Given the description of an element on the screen output the (x, y) to click on. 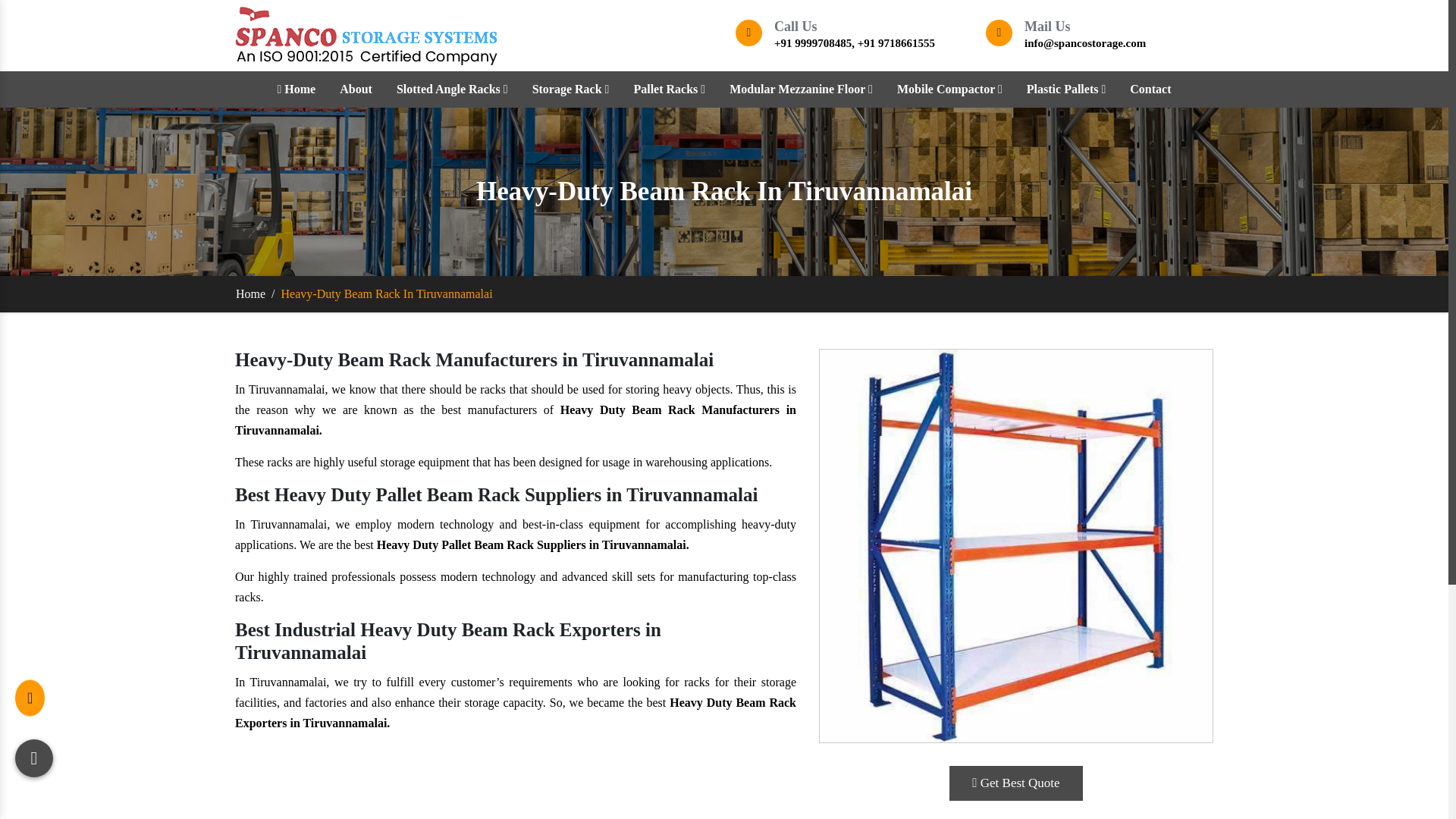
Slotted Angle Racks (452, 89)
Slotted Angle Racks (452, 89)
Spanco Storage Systems (365, 35)
Storage Rack (571, 89)
Home (295, 89)
About (355, 89)
